Given the description of an element on the screen output the (x, y) to click on. 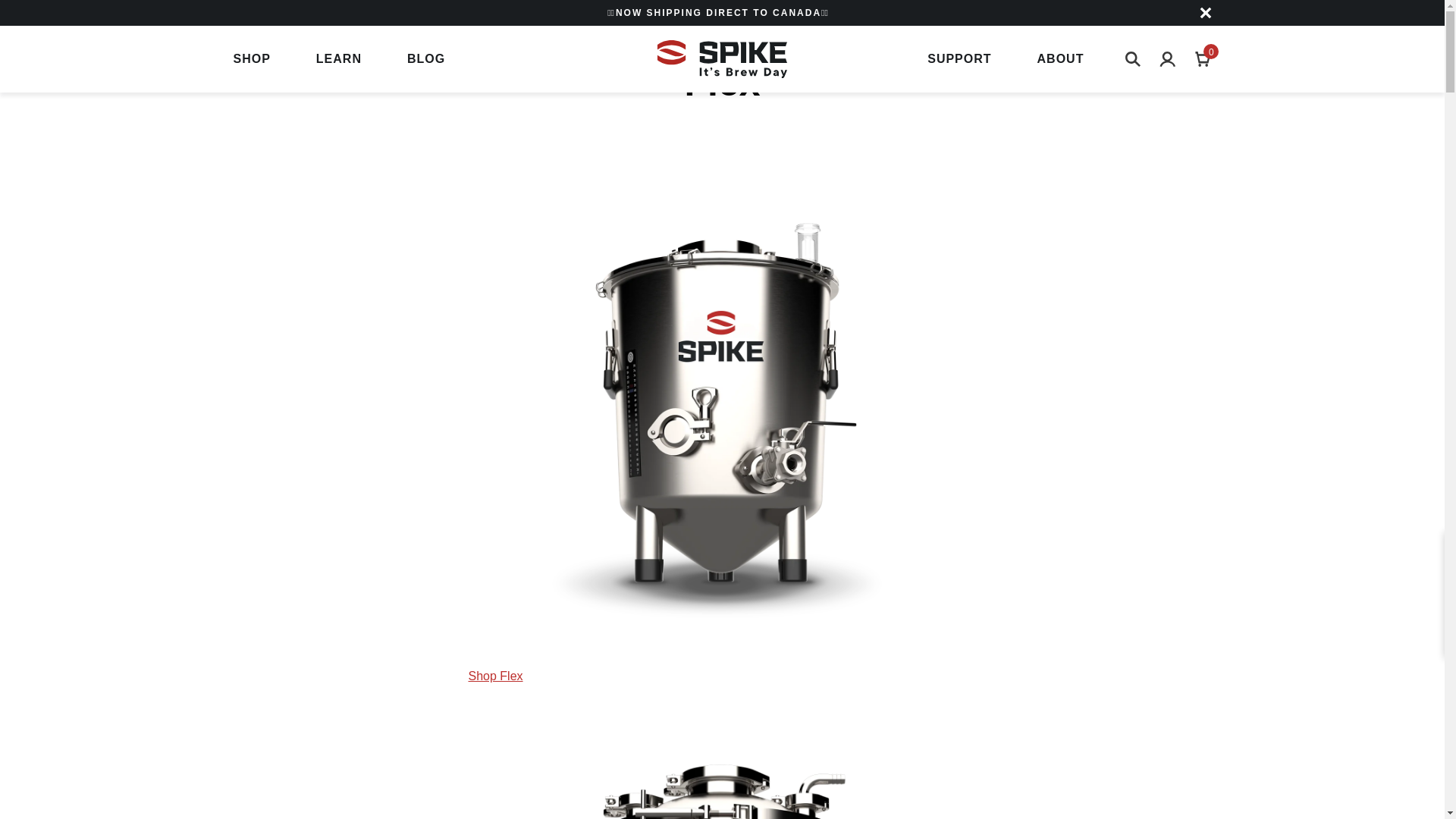
Close Alert Bar (1205, 12)
LEARN (338, 59)
Account (1167, 58)
ABOUT (1060, 59)
SHOP (251, 59)
Search (1203, 58)
SUPPORT (1132, 58)
BLOG (959, 59)
